Given the description of an element on the screen output the (x, y) to click on. 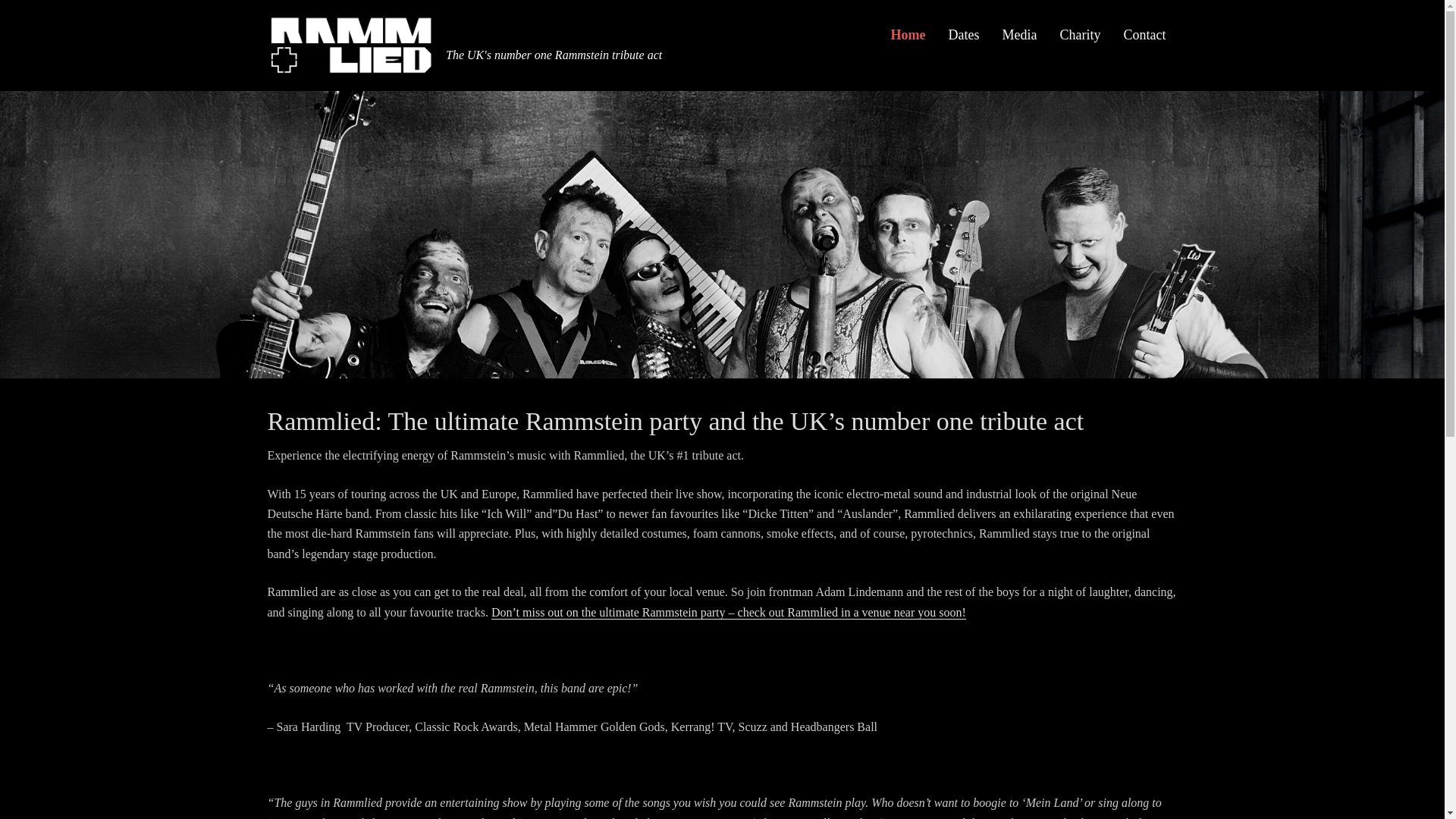
The Rammlied Charity of the Year (1080, 35)
Dates (964, 35)
When are Rammlied playing a gig near me? (964, 35)
Media (1019, 35)
Home (908, 35)
Contact (1144, 35)
Book Rammlied for a gig at your Venue (1144, 35)
Charity (1080, 35)
